Given the description of an element on the screen output the (x, y) to click on. 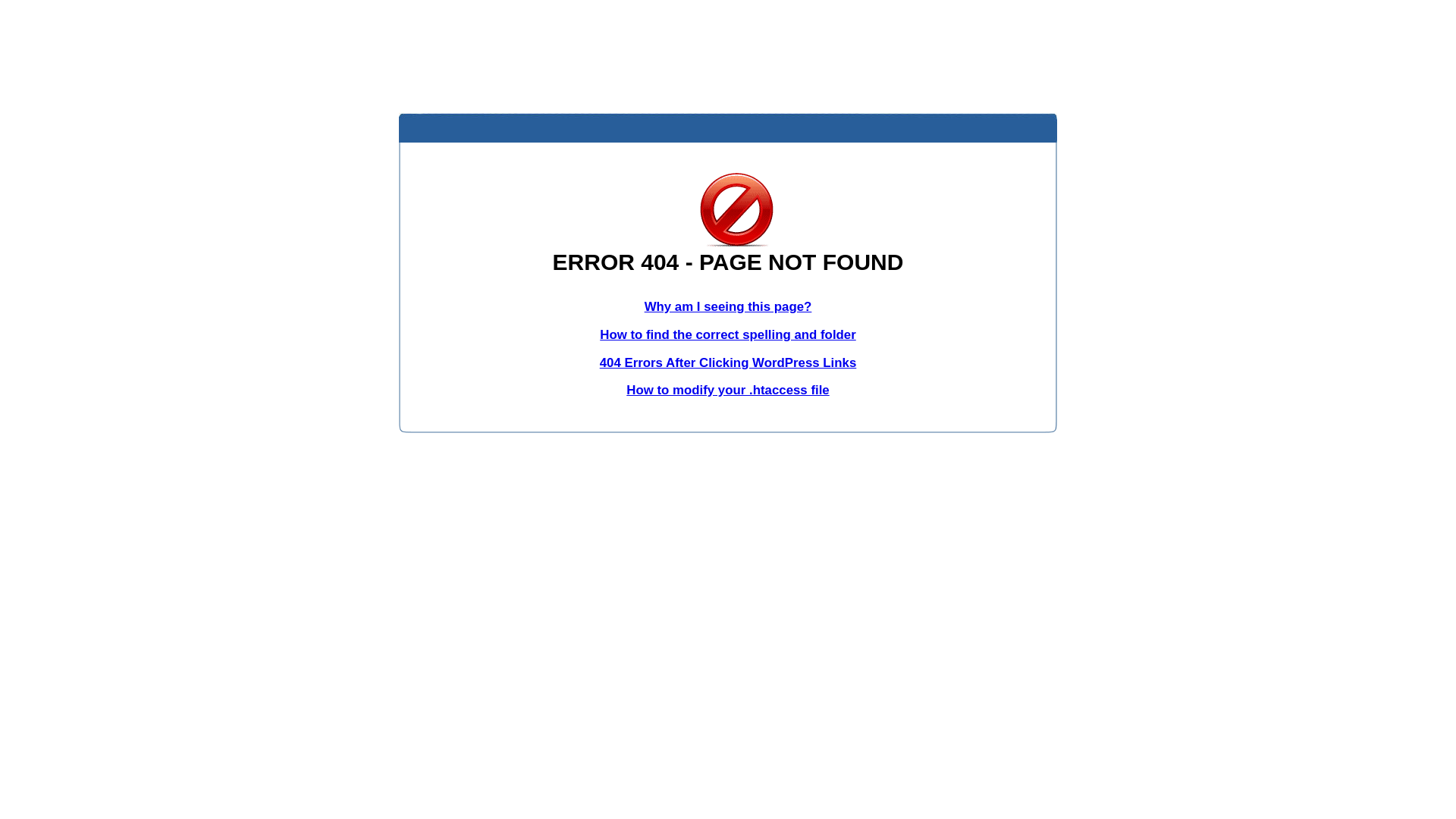
How to find the correct spelling and folder Element type: text (727, 334)
How to modify your .htaccess file Element type: text (727, 389)
Why am I seeing this page? Element type: text (728, 306)
404 Errors After Clicking WordPress Links Element type: text (727, 362)
